Given the description of an element on the screen output the (x, y) to click on. 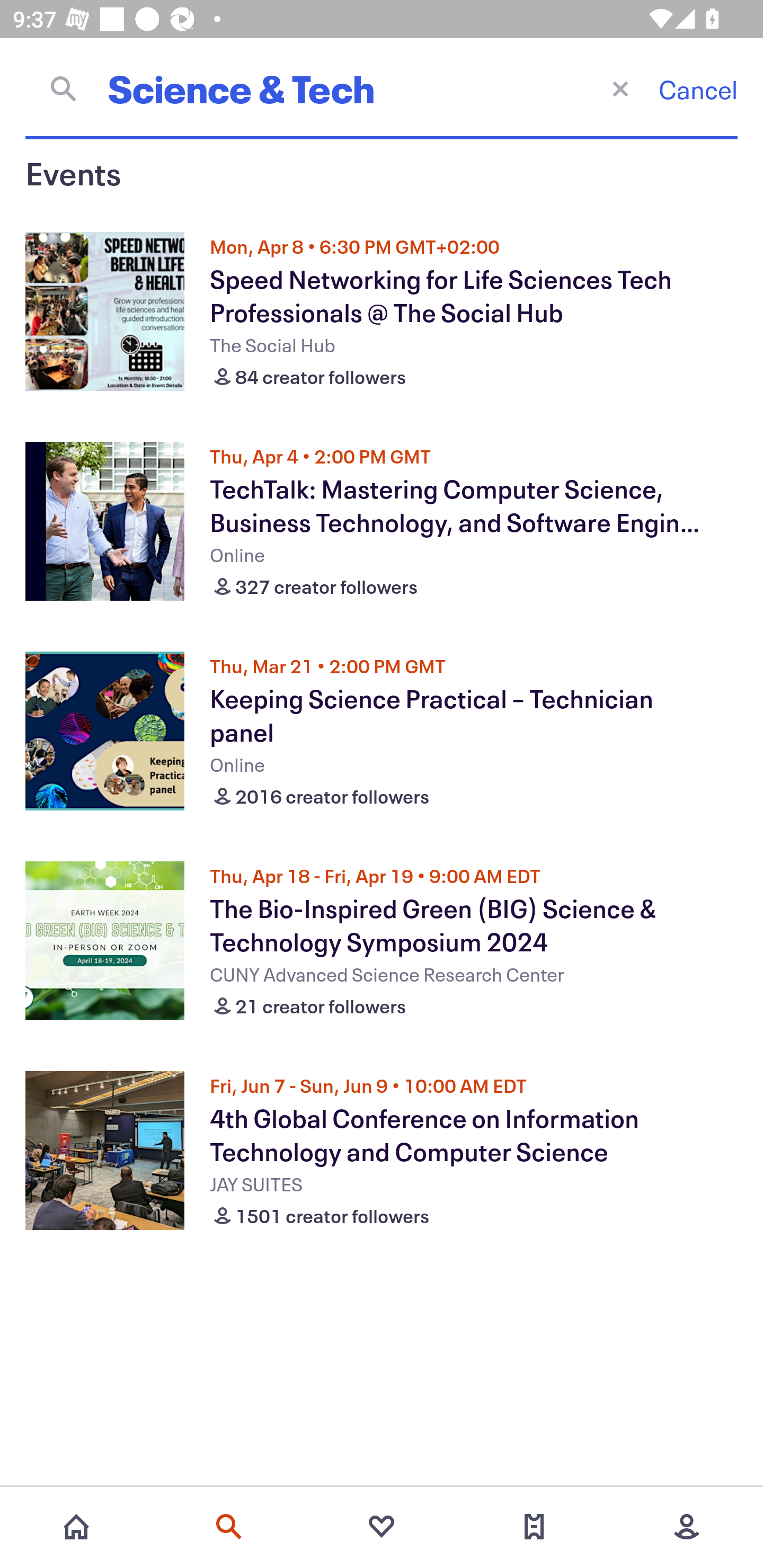
Science & Tech Close current screen Cancel (381, 88)
Close current screen (620, 88)
Cancel (697, 89)
Home (76, 1526)
Search events (228, 1526)
Favorites (381, 1526)
Tickets (533, 1526)
More (686, 1526)
